Given the description of an element on the screen output the (x, y) to click on. 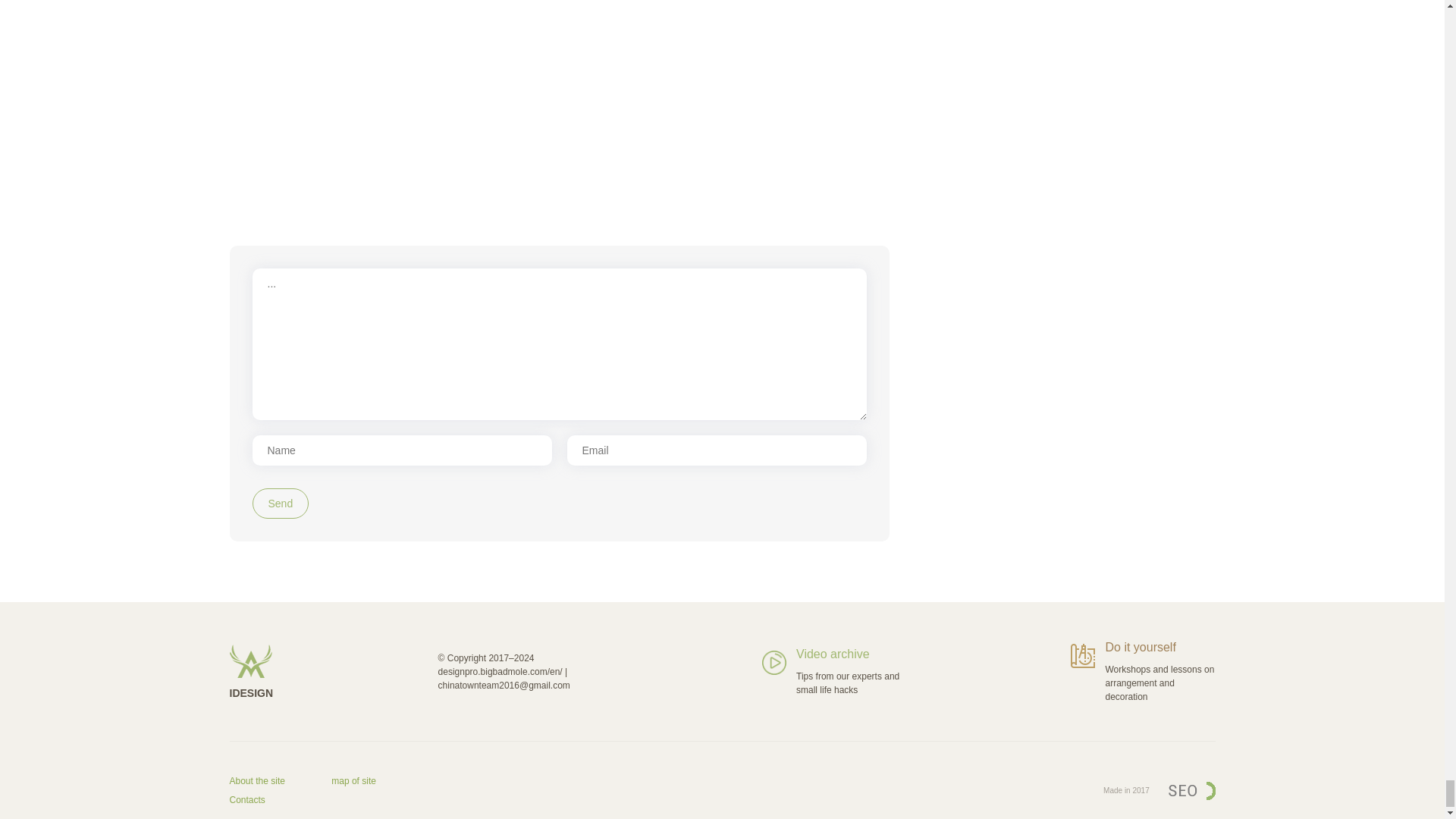
Send (279, 503)
